Given the description of an element on the screen output the (x, y) to click on. 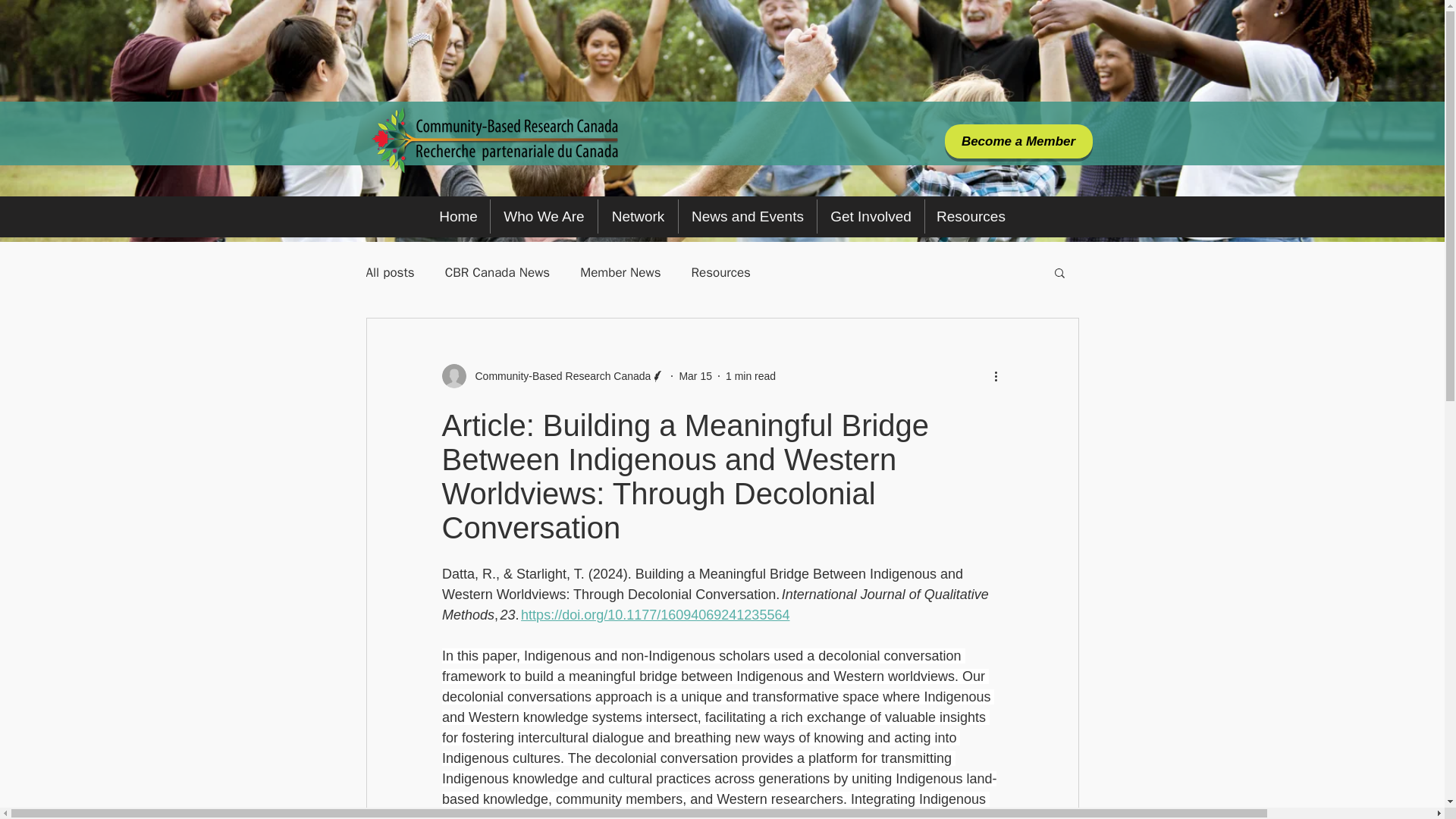
Get Involved (870, 216)
Mar 15 (694, 376)
Network (638, 216)
Community-Based Research Canada (553, 375)
Home (457, 216)
1 min read (750, 376)
Resources (970, 216)
Resources (721, 272)
Member News (620, 272)
All posts (389, 272)
